Given the description of an element on the screen output the (x, y) to click on. 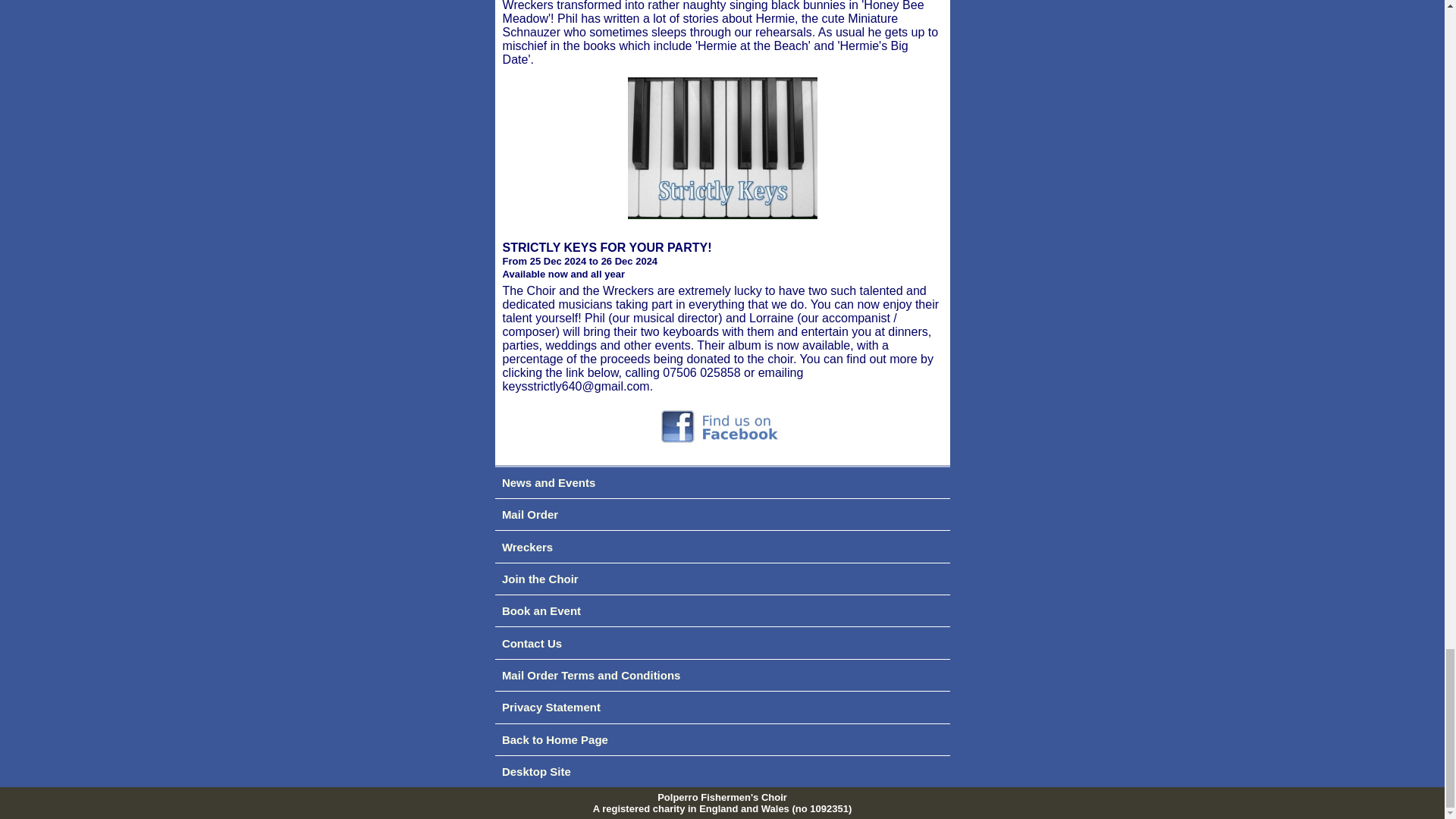
Join the Choir (721, 578)
Desktop Site (721, 771)
Mail Order (721, 514)
Mail Order Terms and Conditions (721, 674)
Book an Event (721, 610)
Back to Home Page (721, 739)
Contact Us (721, 642)
Wreckers (721, 546)
News and Events (721, 482)
Privacy Statement (721, 707)
